Given the description of an element on the screen output the (x, y) to click on. 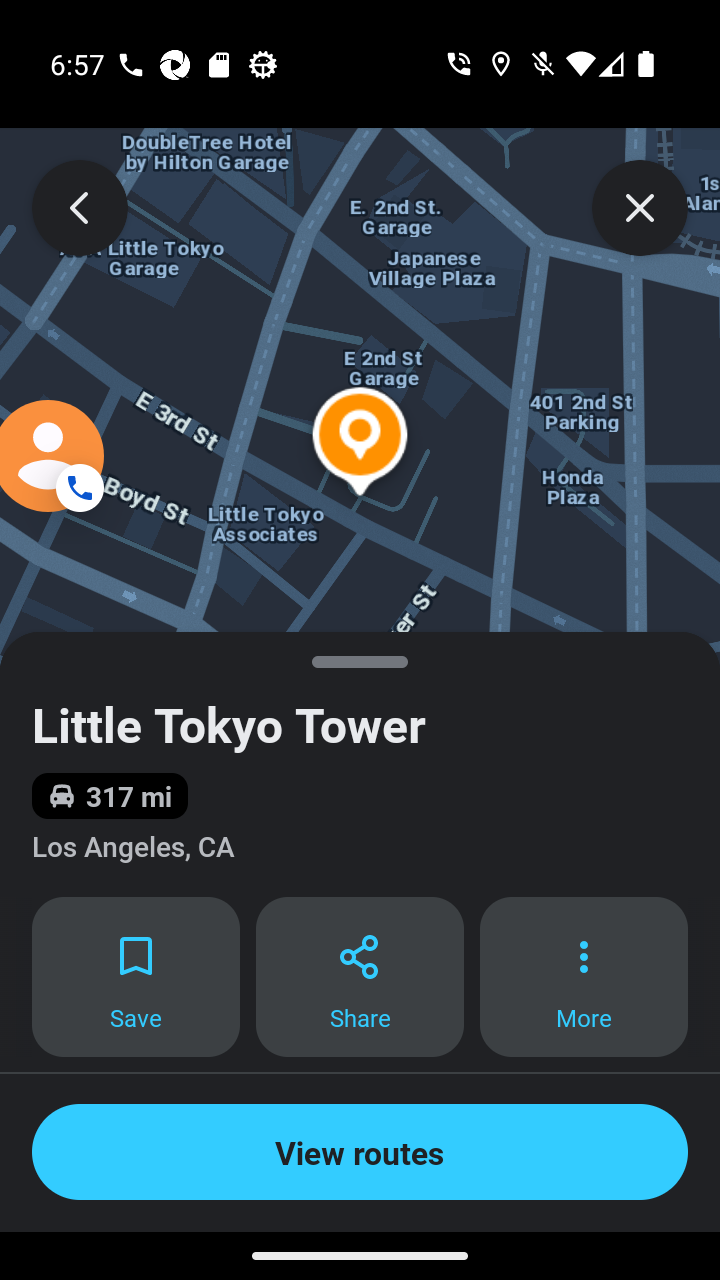
Little Tokyo Tower 317 mi Los Angeles, CA (360, 764)
Save (135, 977)
Share (359, 977)
More (584, 977)
View routes (359, 1151)
